Given the description of an element on the screen output the (x, y) to click on. 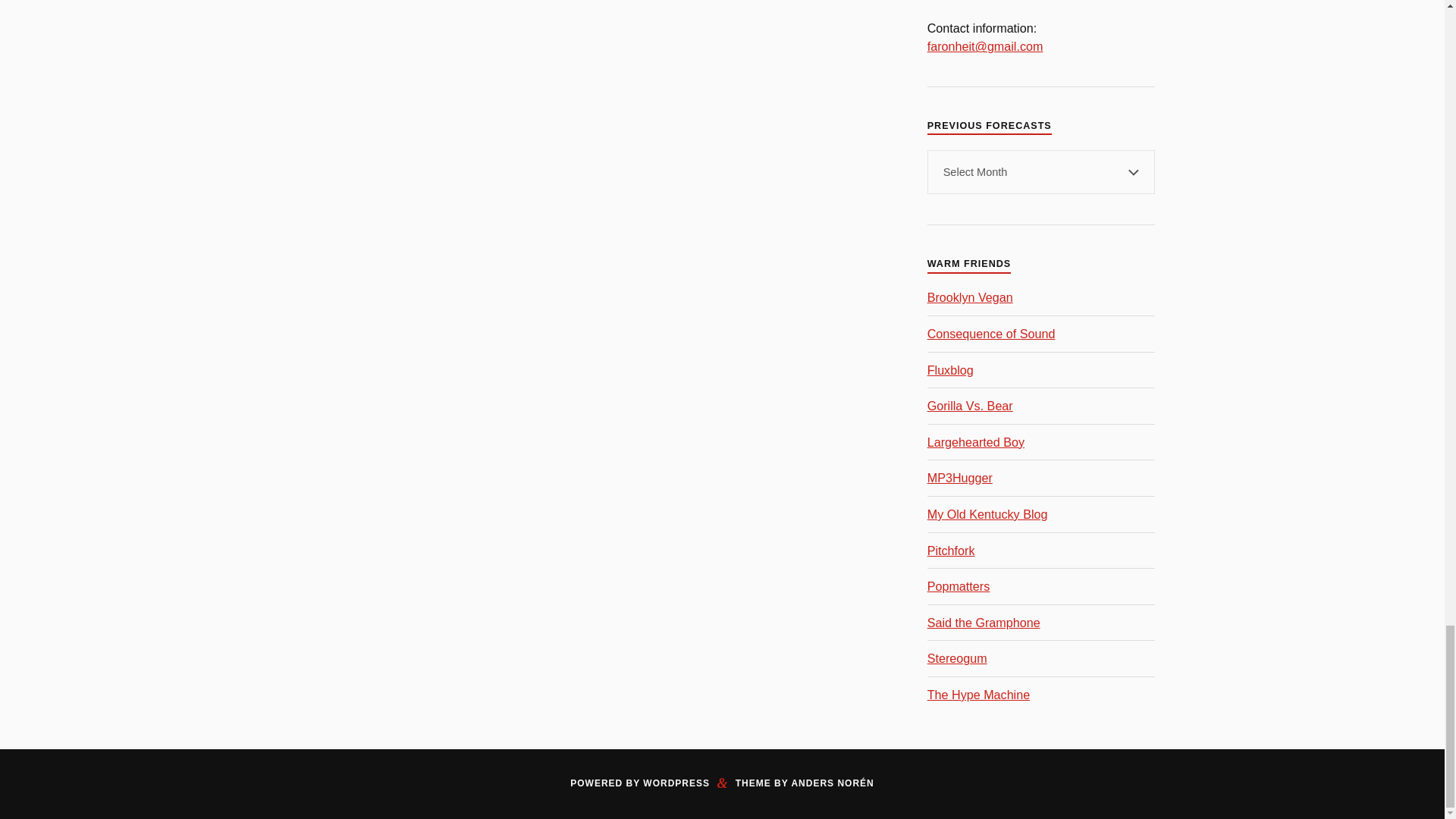
The first-ever music blog (950, 369)
The bear would totally win (970, 405)
My goal is to turn him into Brooklyn Meateater (970, 296)
Music news and festival rumors (991, 333)
